Given the description of an element on the screen output the (x, y) to click on. 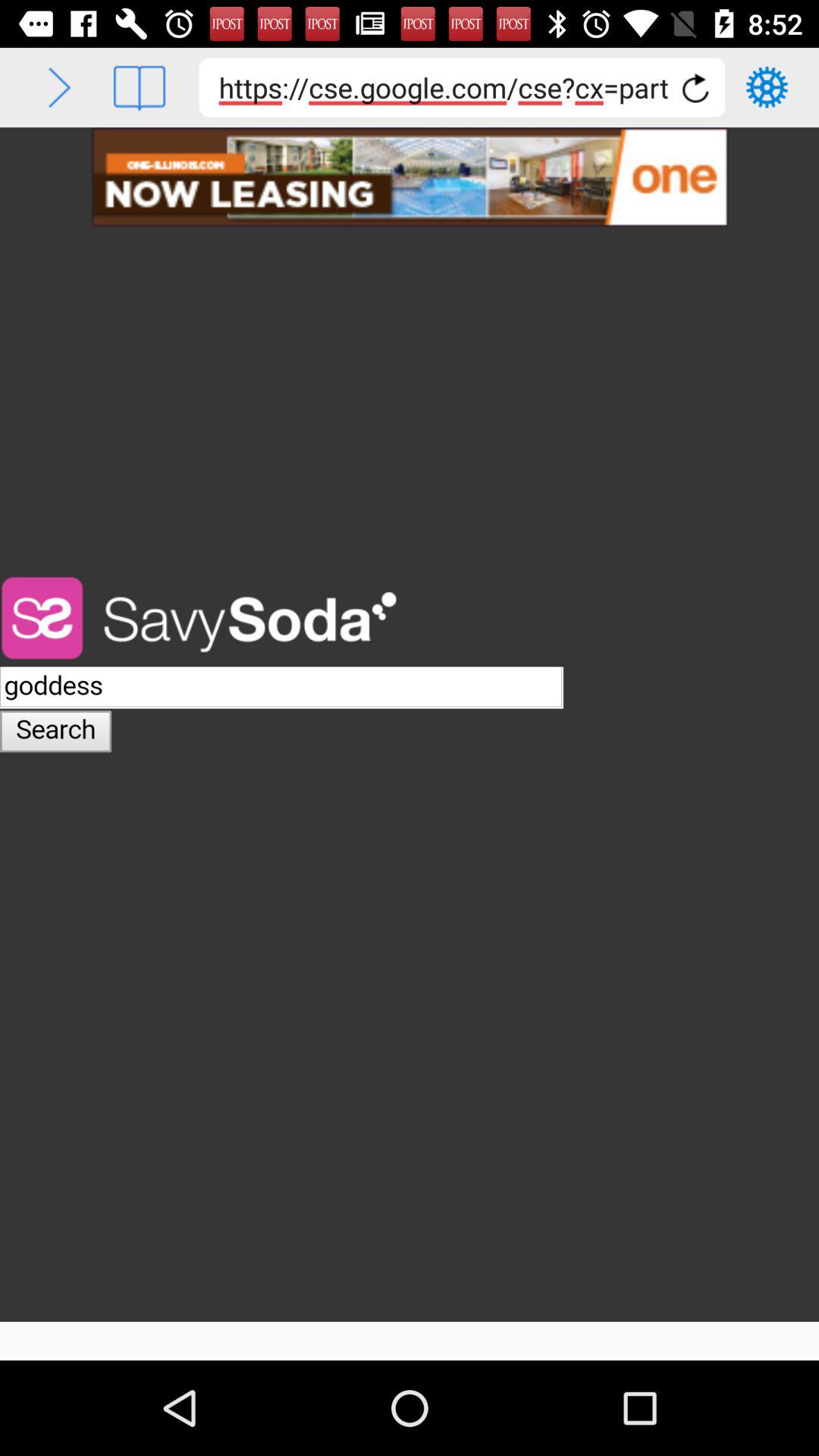
add bookmark (139, 87)
